Given the description of an element on the screen output the (x, y) to click on. 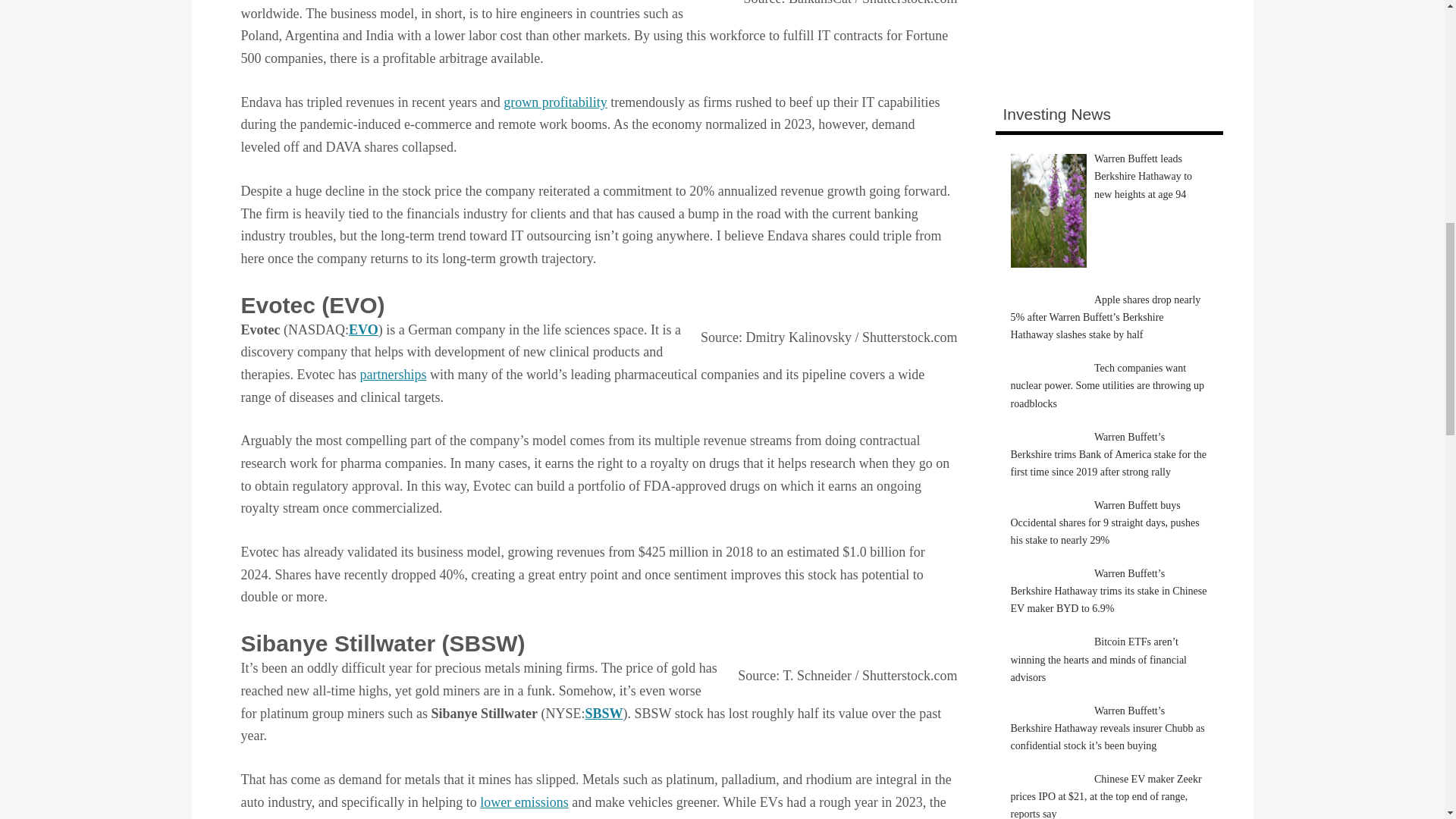
lower emissions (524, 801)
EVO (363, 329)
partnerships (392, 374)
grown profitability (555, 102)
SBSW (604, 713)
